Given the description of an element on the screen output the (x, y) to click on. 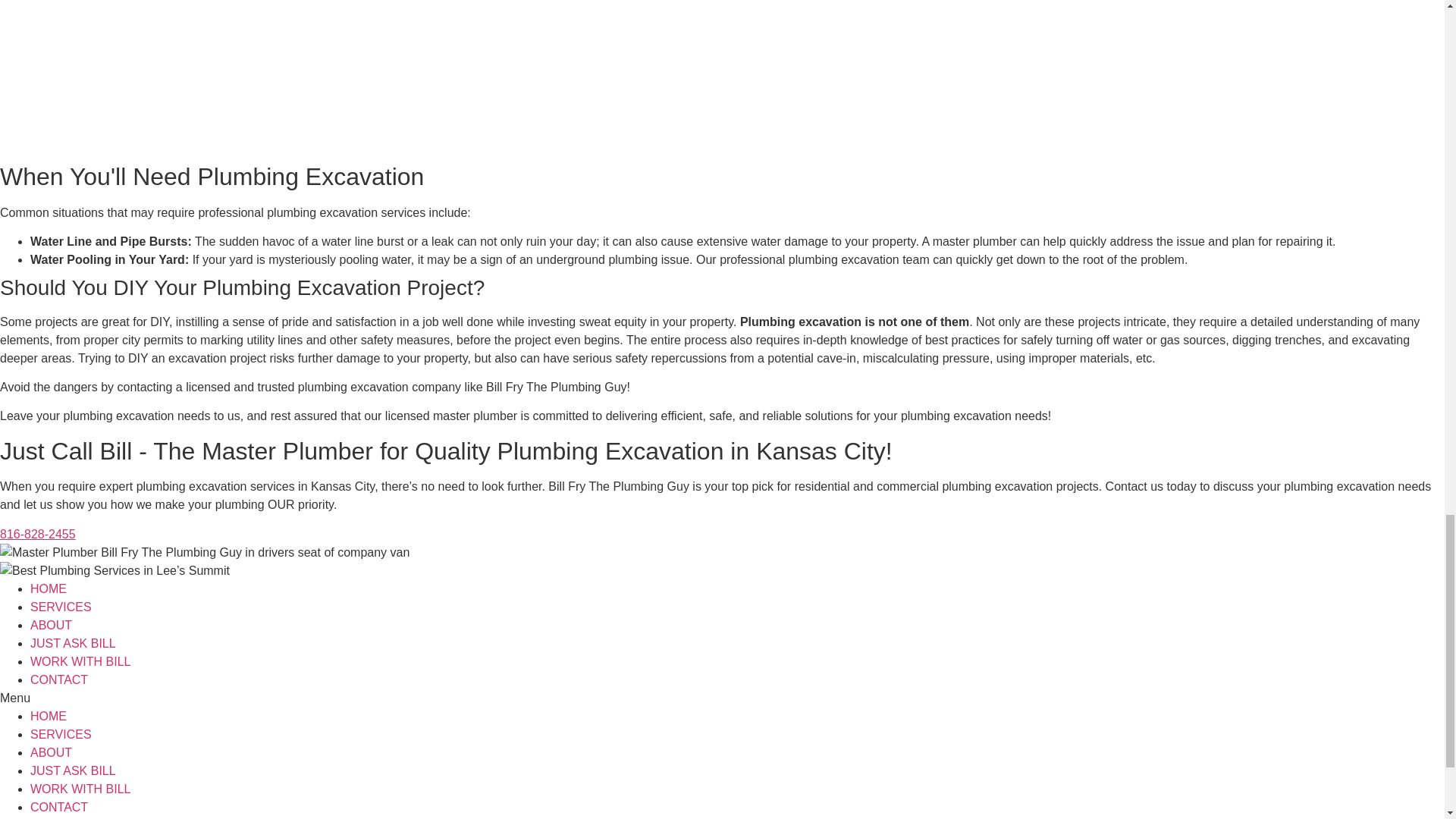
JUST ASK BILL (73, 770)
SERVICES (60, 606)
HOME (48, 716)
WORK WITH BILL (80, 788)
WORK WITH BILL (80, 661)
ABOUT (50, 625)
CONTACT (58, 679)
CONTACT (58, 807)
816-828-2455 (37, 533)
JUST ASK BILL (73, 643)
HOME (48, 588)
ABOUT (50, 752)
SERVICES (60, 734)
